Given the description of an element on the screen output the (x, y) to click on. 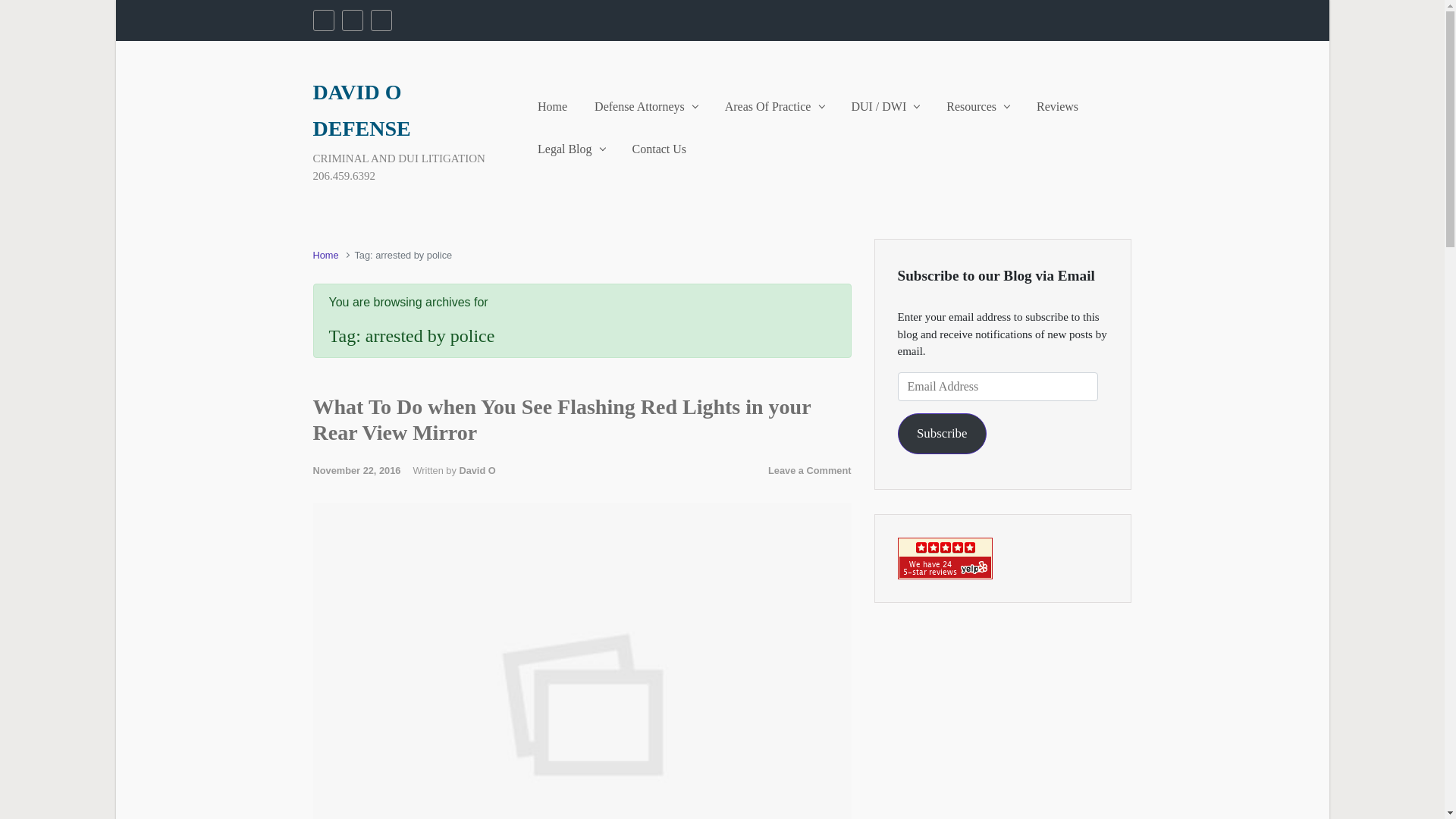
DAVID O DEFENSE (361, 110)
Defense Attorneys (645, 106)
Legal Blog (571, 148)
Reviews (1057, 106)
Areas Of Practice (774, 106)
Home (552, 106)
View all posts by David O (476, 470)
Resources (977, 106)
